Given the description of an element on the screen output the (x, y) to click on. 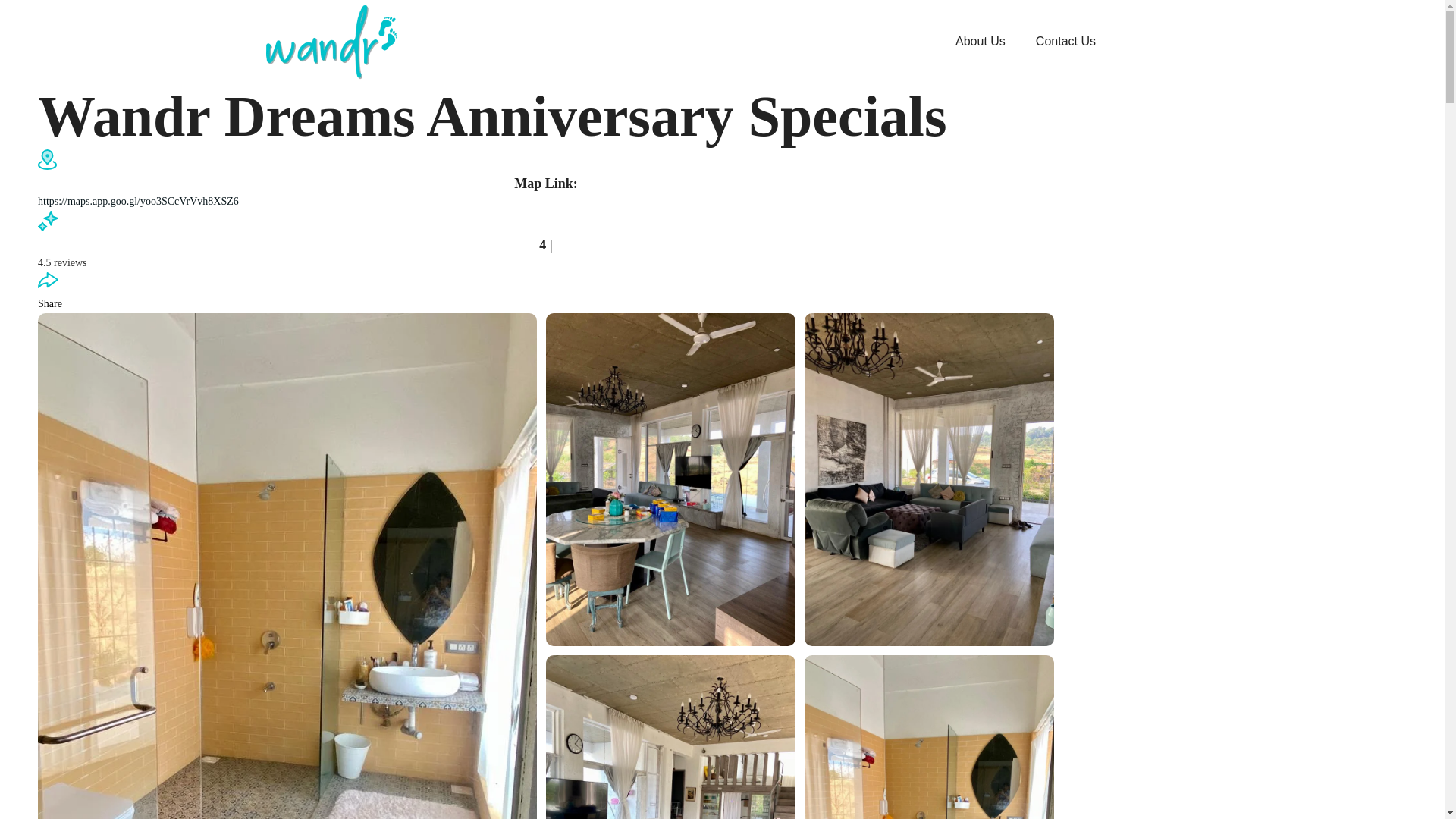
Contact Us (1065, 41)
About Us (980, 41)
